Given the description of an element on the screen output the (x, y) to click on. 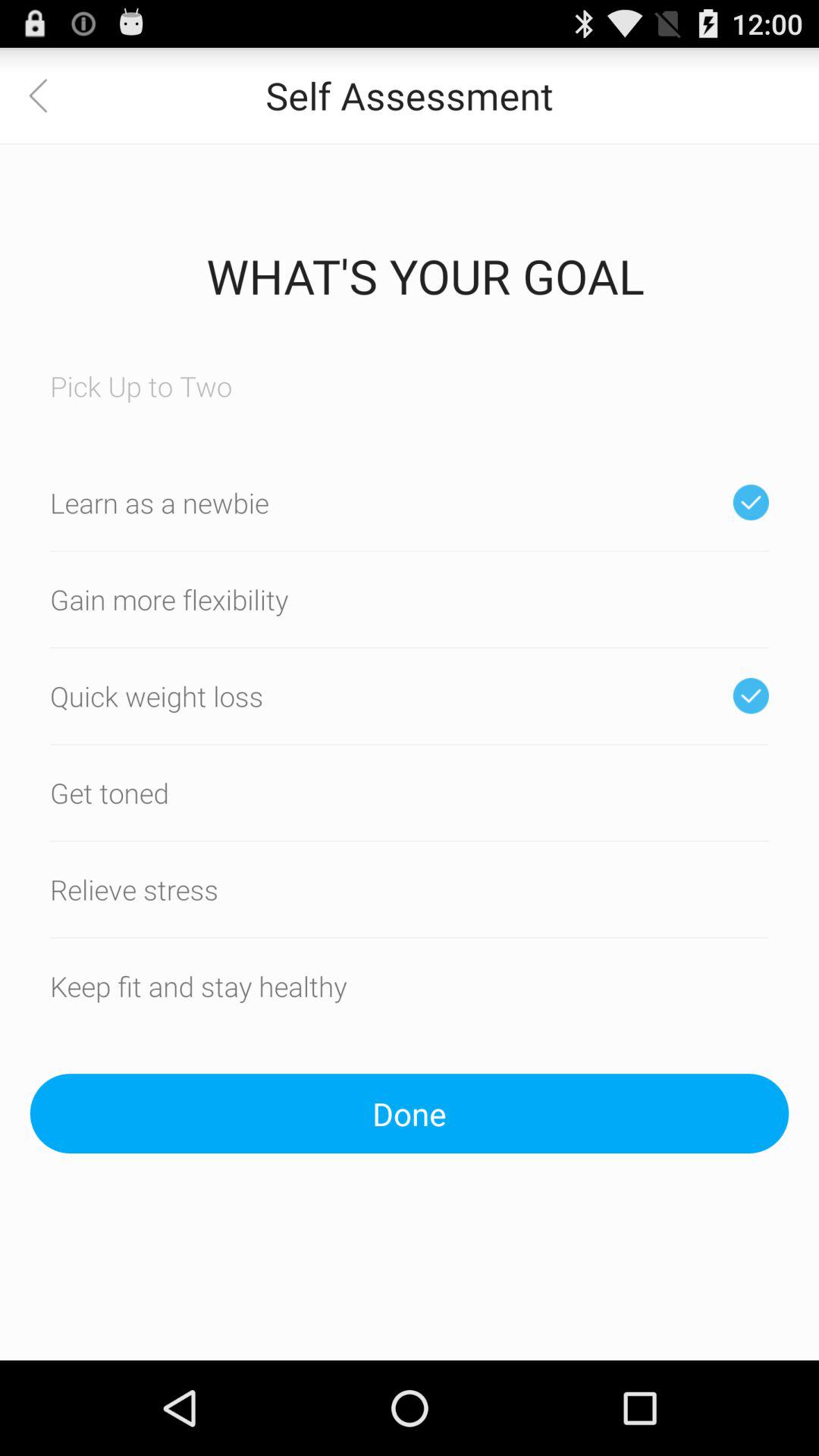
press icon at the top left corner (47, 95)
